Given the description of an element on the screen output the (x, y) to click on. 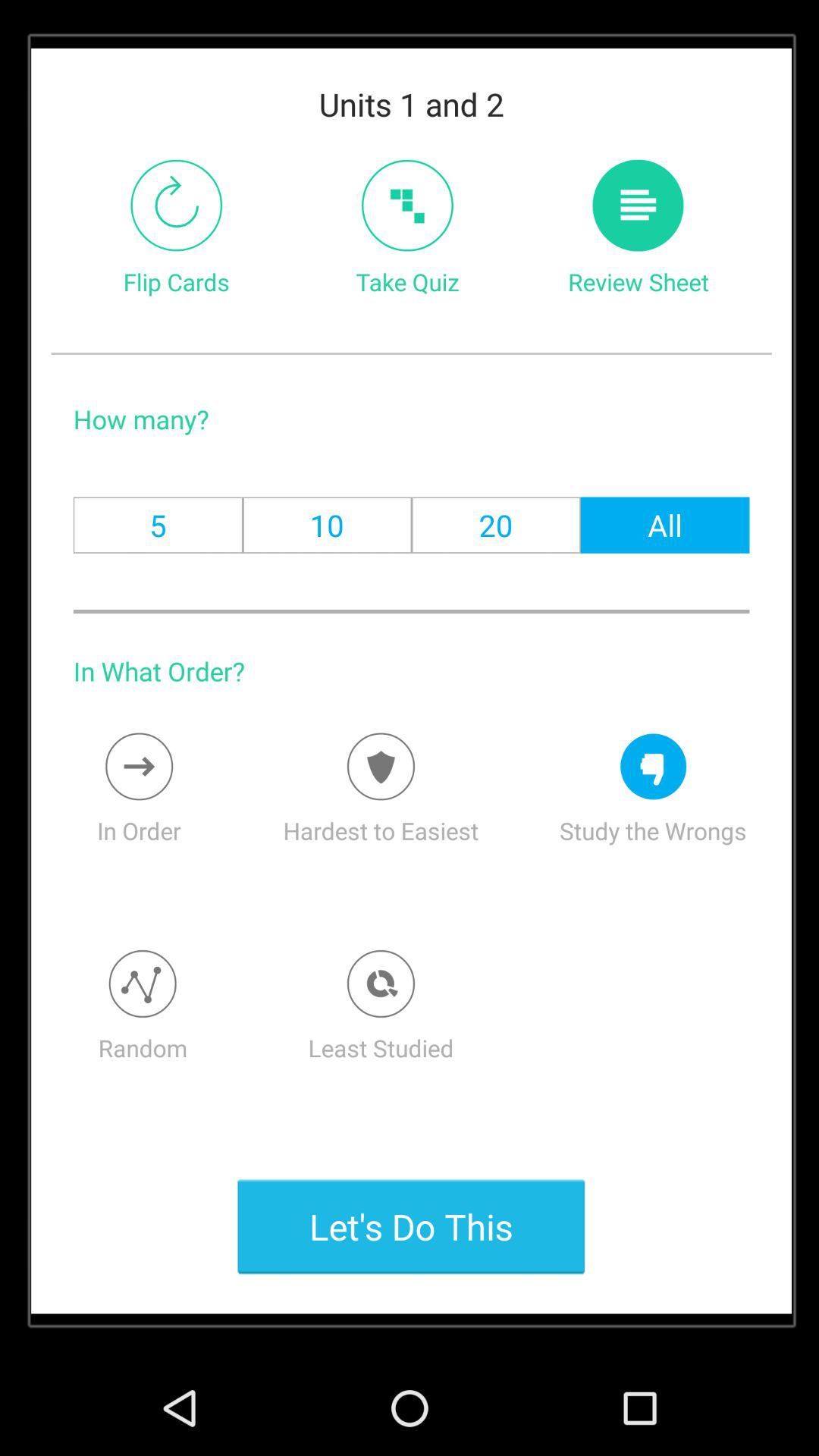
pop random card (142, 983)
